Given the description of an element on the screen output the (x, y) to click on. 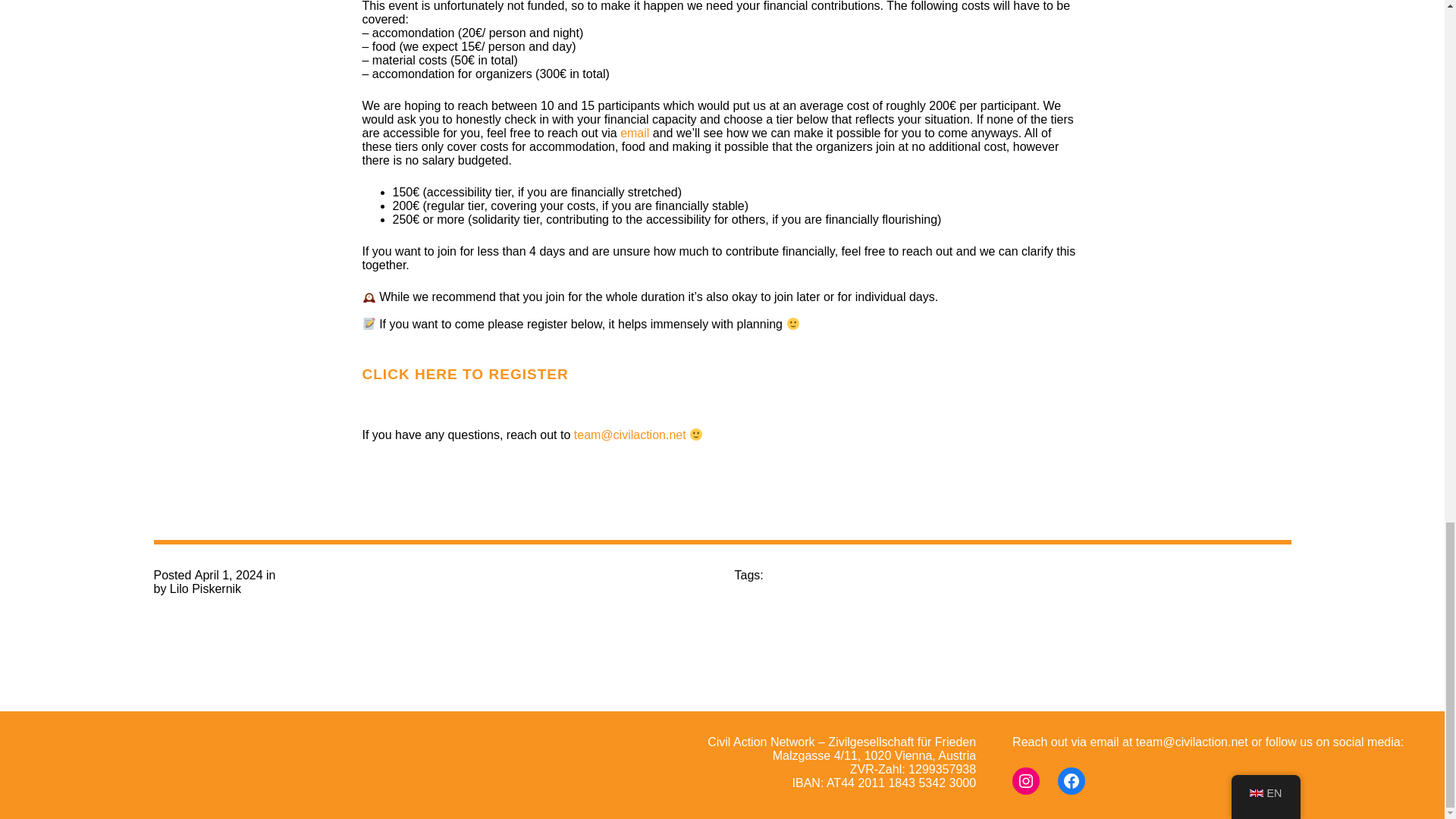
email  (636, 132)
Facebook (1071, 780)
CLICK HERE TO REGISTER (465, 374)
Instagram (1025, 780)
